Given the description of an element on the screen output the (x, y) to click on. 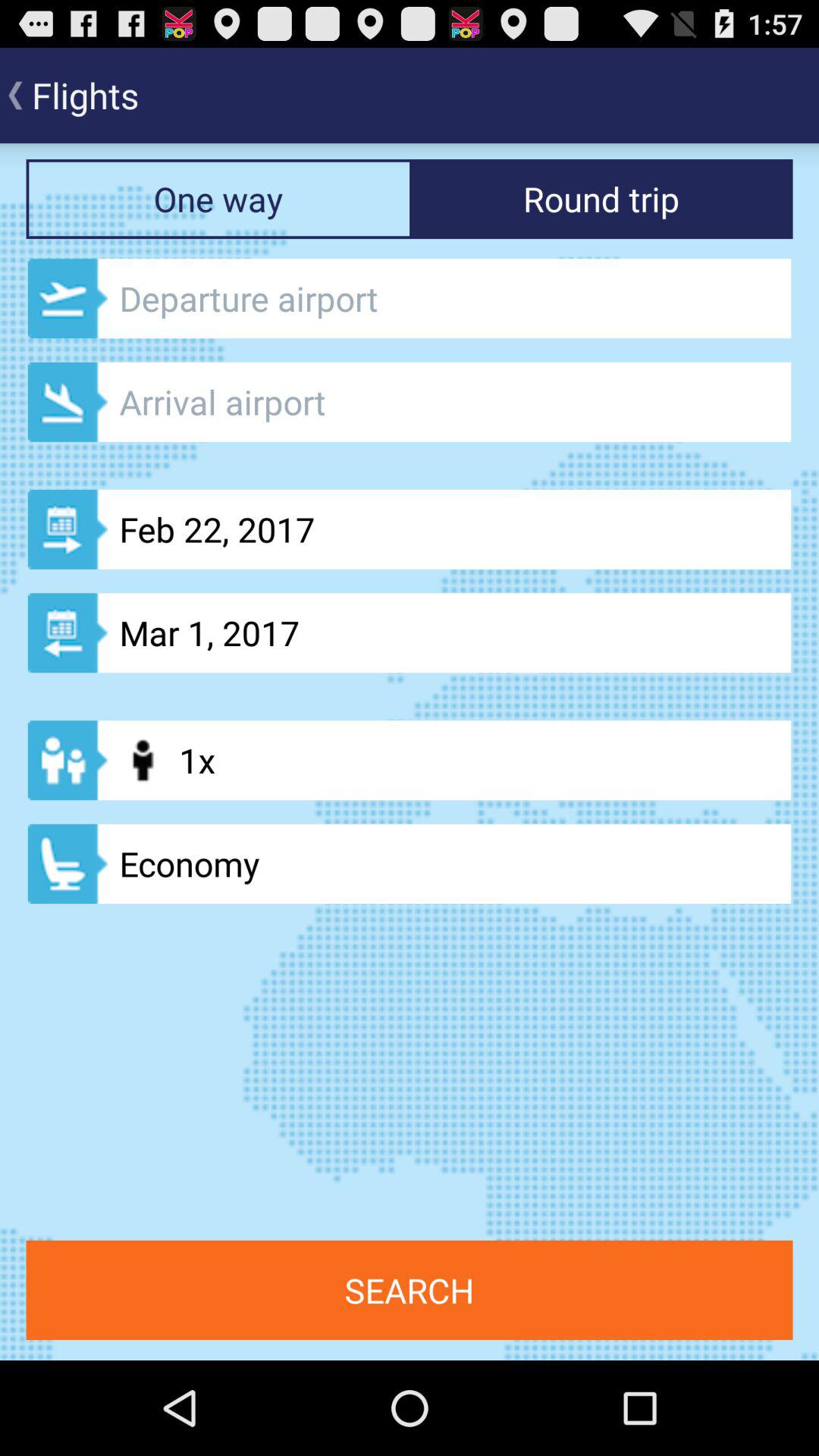
input departure airport (409, 298)
